Given the description of an element on the screen output the (x, y) to click on. 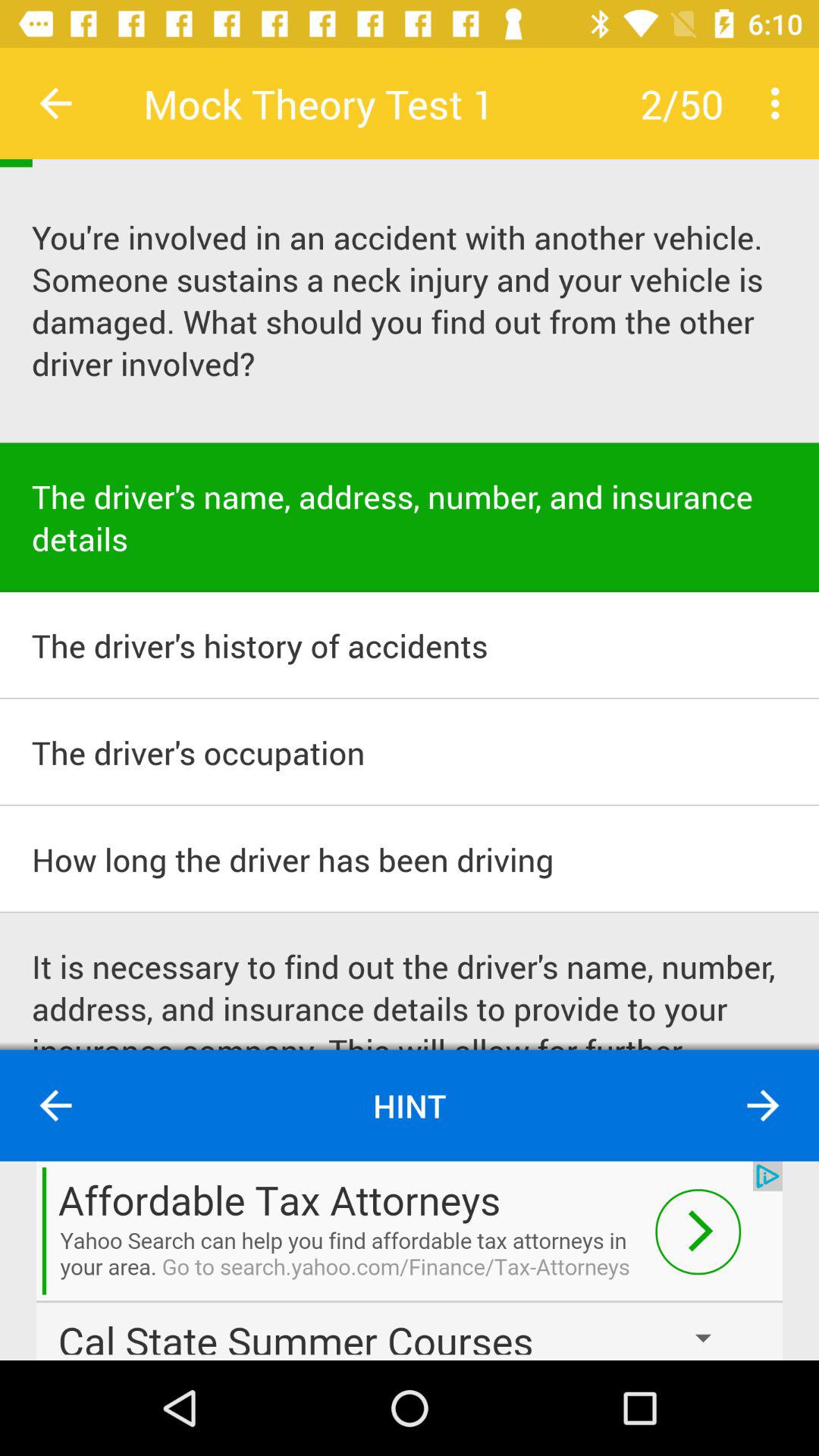
click the menu button at the top right corner of the page (779, 103)
click on hint at the bottom of the page (409, 1105)
